Given the description of an element on the screen output the (x, y) to click on. 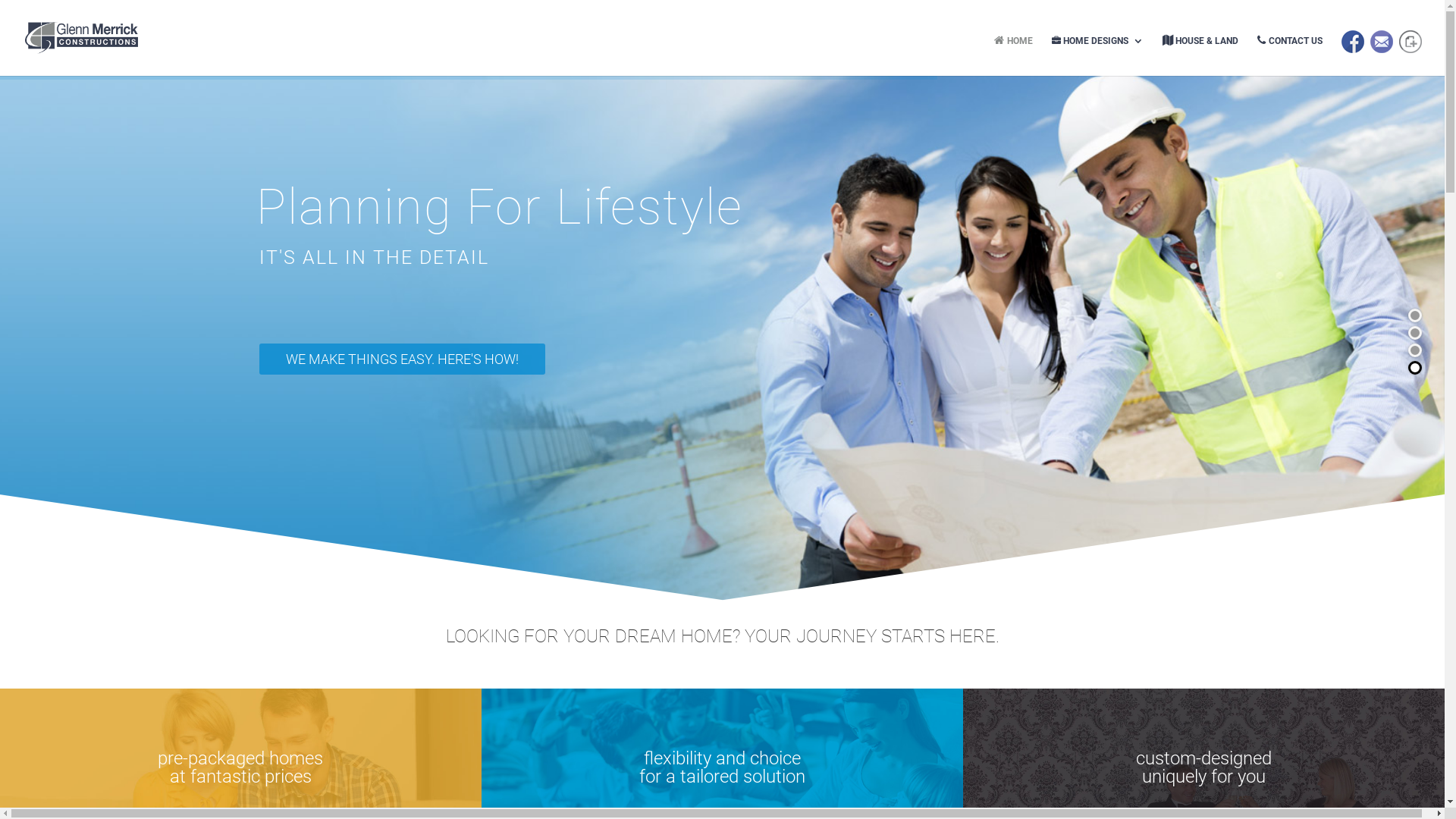
Email Element type: text (1381, 52)
Orders Element type: text (1410, 52)
Facebook Element type: text (1352, 52)
HOME Element type: text (1013, 52)
HOUSE & LAND Element type: text (1200, 52)
 HOME DESIGNS Element type: text (1097, 52)
CONTACT US Element type: text (1289, 52)
